Given the description of an element on the screen output the (x, y) to click on. 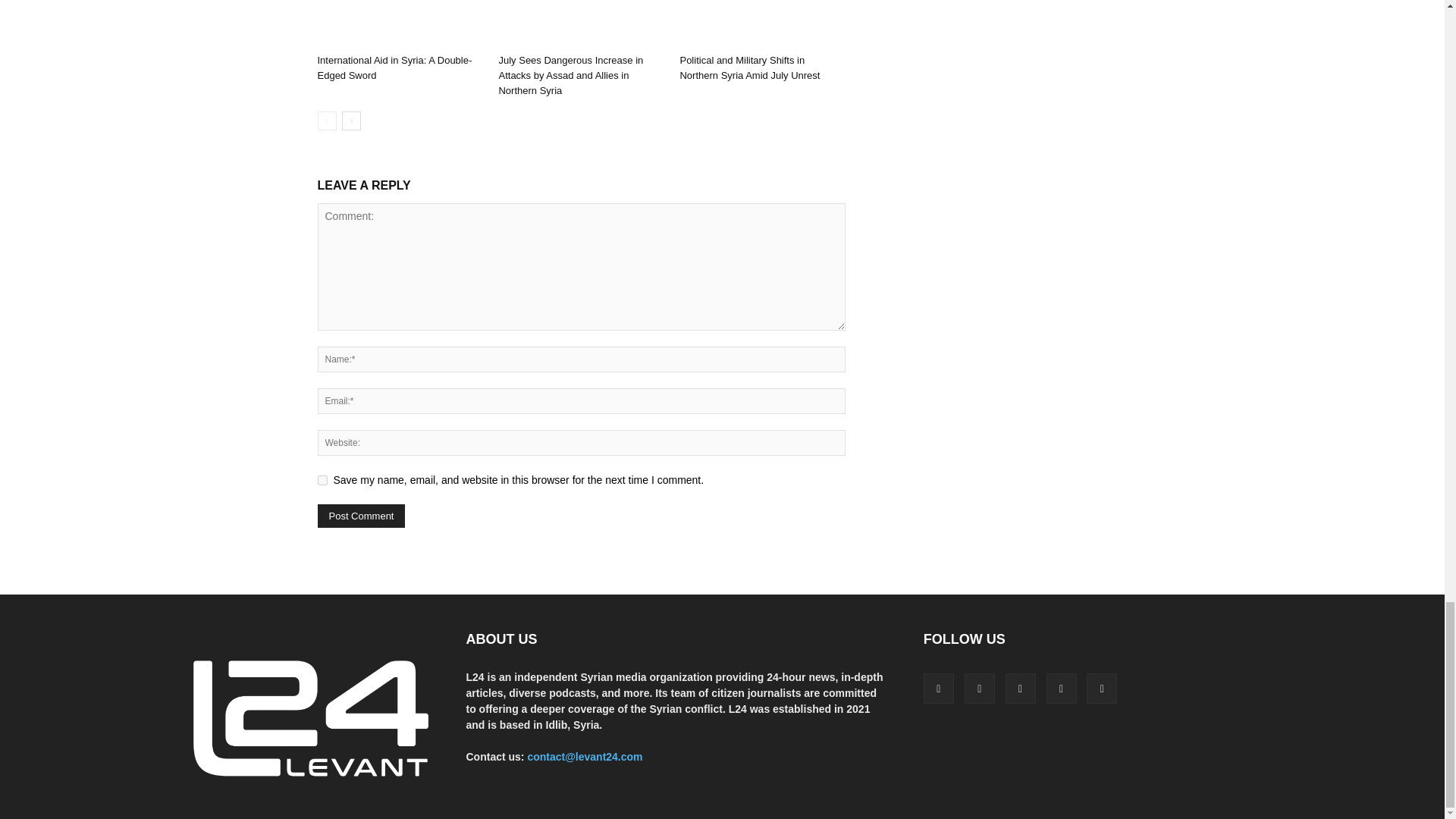
yes (321, 480)
Post Comment (360, 515)
